Given the description of an element on the screen output the (x, y) to click on. 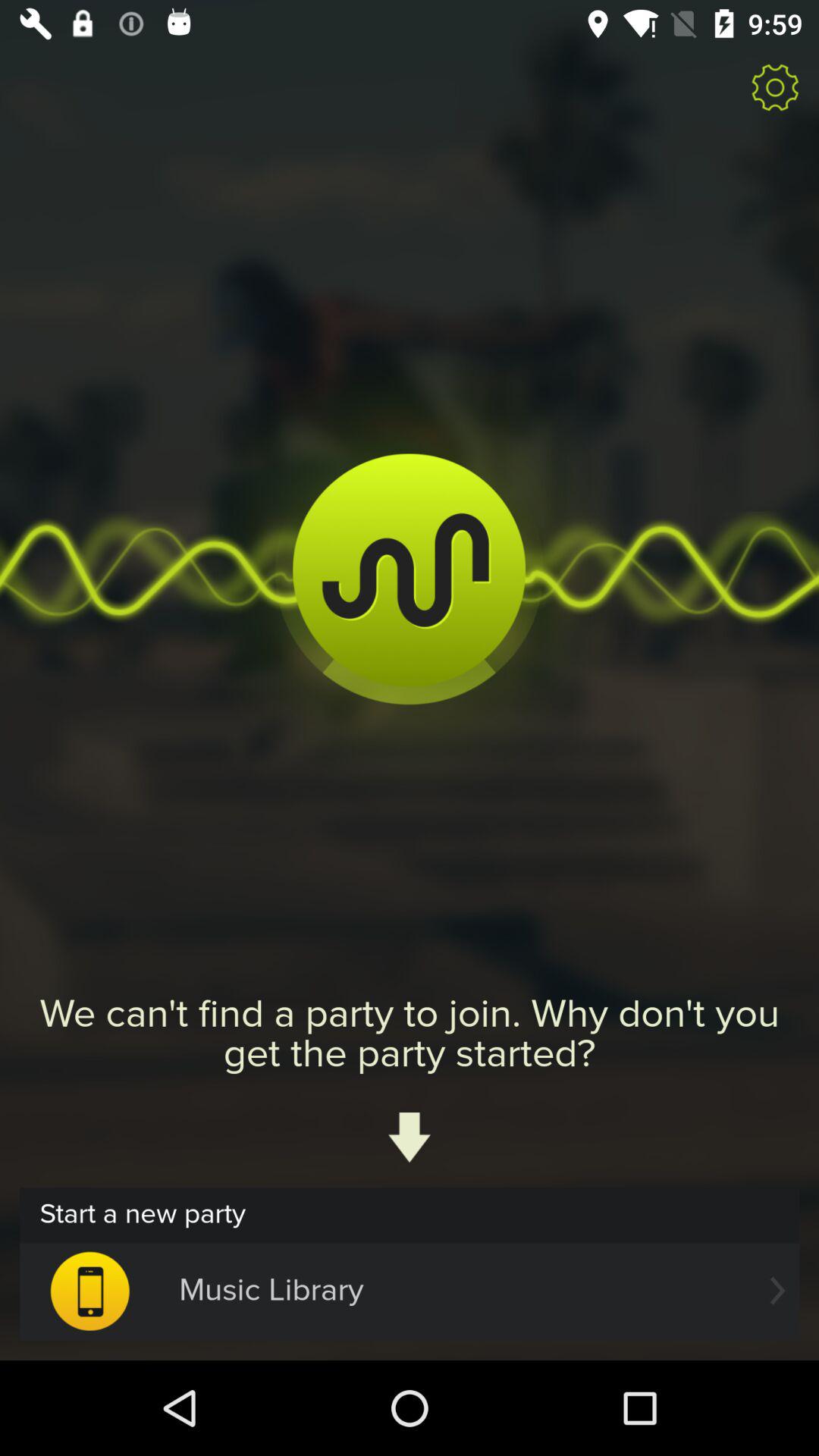
open music library item (409, 1290)
